Given the description of an element on the screen output the (x, y) to click on. 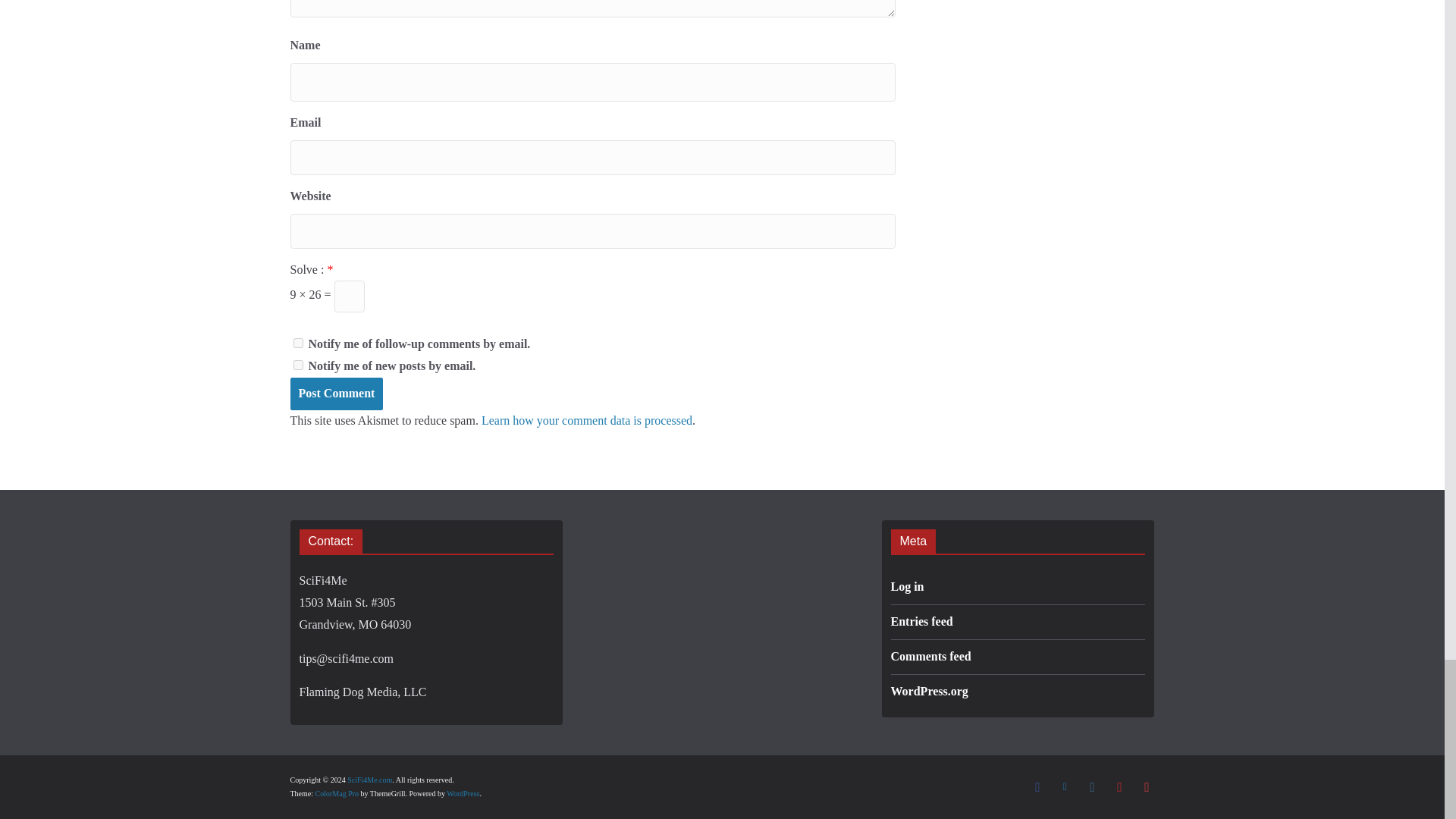
subscribe (297, 343)
Post Comment (335, 393)
subscribe (297, 365)
